Given the description of an element on the screen output the (x, y) to click on. 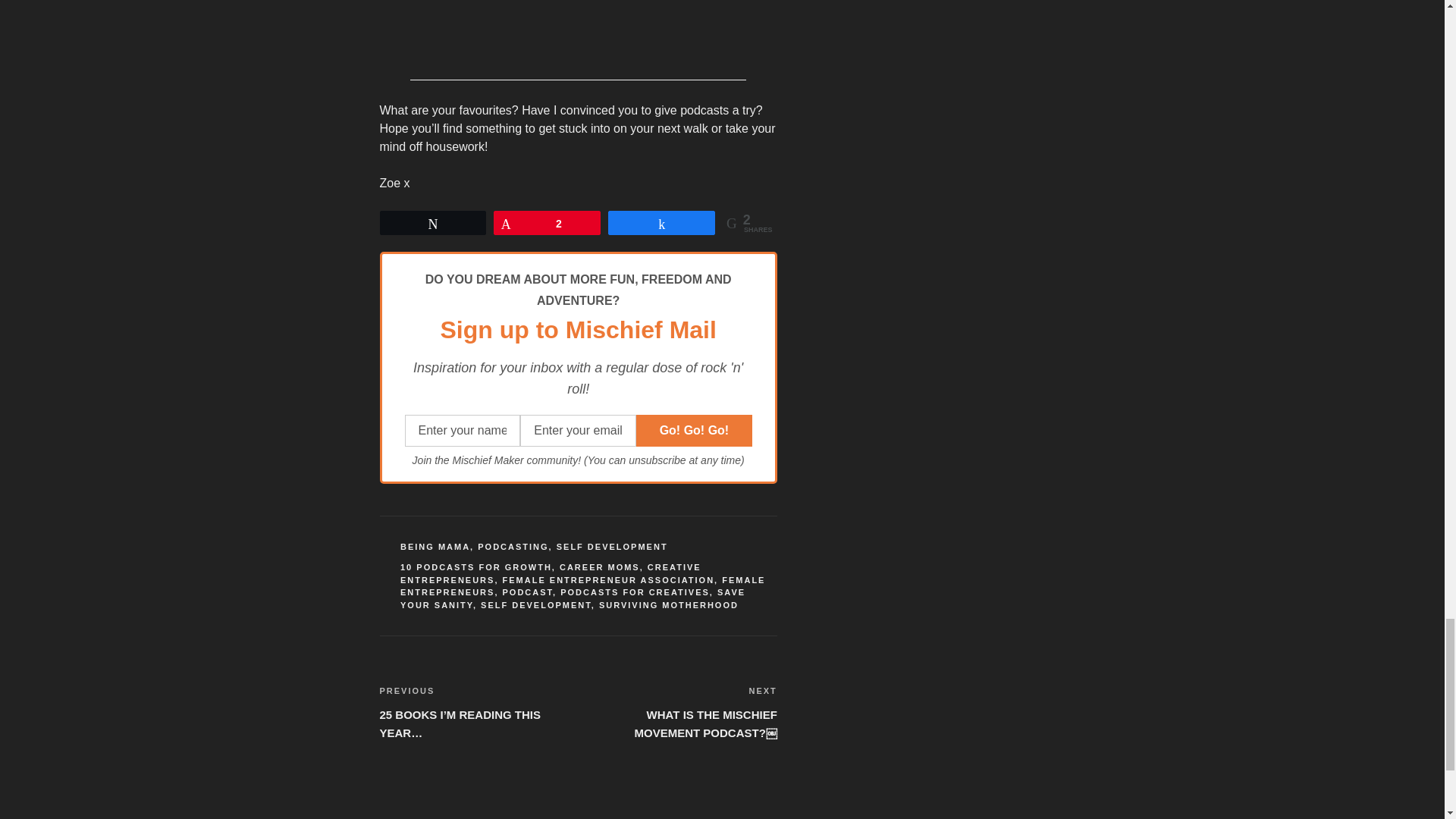
2 (547, 222)
SELF DEVELOPMENT (535, 604)
BEING MAMA (435, 546)
SELF DEVELOPMENT (612, 546)
Go! Go! Go! (694, 430)
PODCASTING (512, 546)
CAREER MOMS (599, 566)
10 PODCASTS FOR GROWTH (475, 566)
PODCASTS FOR CREATIVES (635, 592)
CREATIVE ENTREPRENEURS (550, 573)
